Given the description of an element on the screen output the (x, y) to click on. 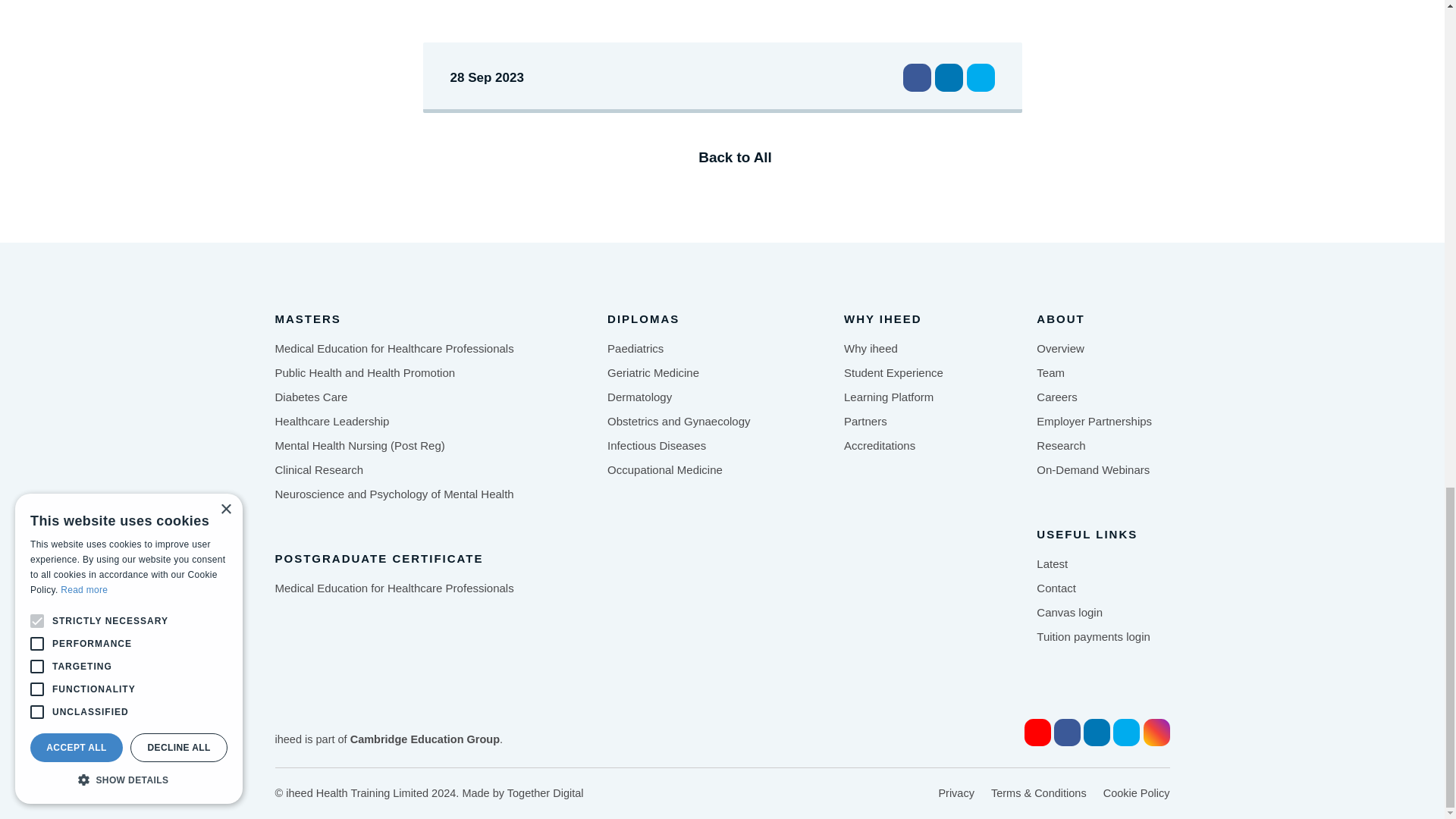
Clinical Research (318, 469)
Occupational Medicine (664, 469)
Share on Facebook (916, 77)
Share on LinkedIn (948, 77)
Facebook (1067, 732)
Diabetes Care (311, 397)
Infectious Diseases (656, 445)
Paediatrics (635, 348)
Dermatology (639, 397)
YouTube (1038, 732)
Obstetrics and Gynaecology (678, 421)
Instagram (1156, 732)
LinkedIn (1096, 732)
Share on Twitter (980, 77)
Medical Education for Healthcare Professionals (394, 588)
